Given the description of an element on the screen output the (x, y) to click on. 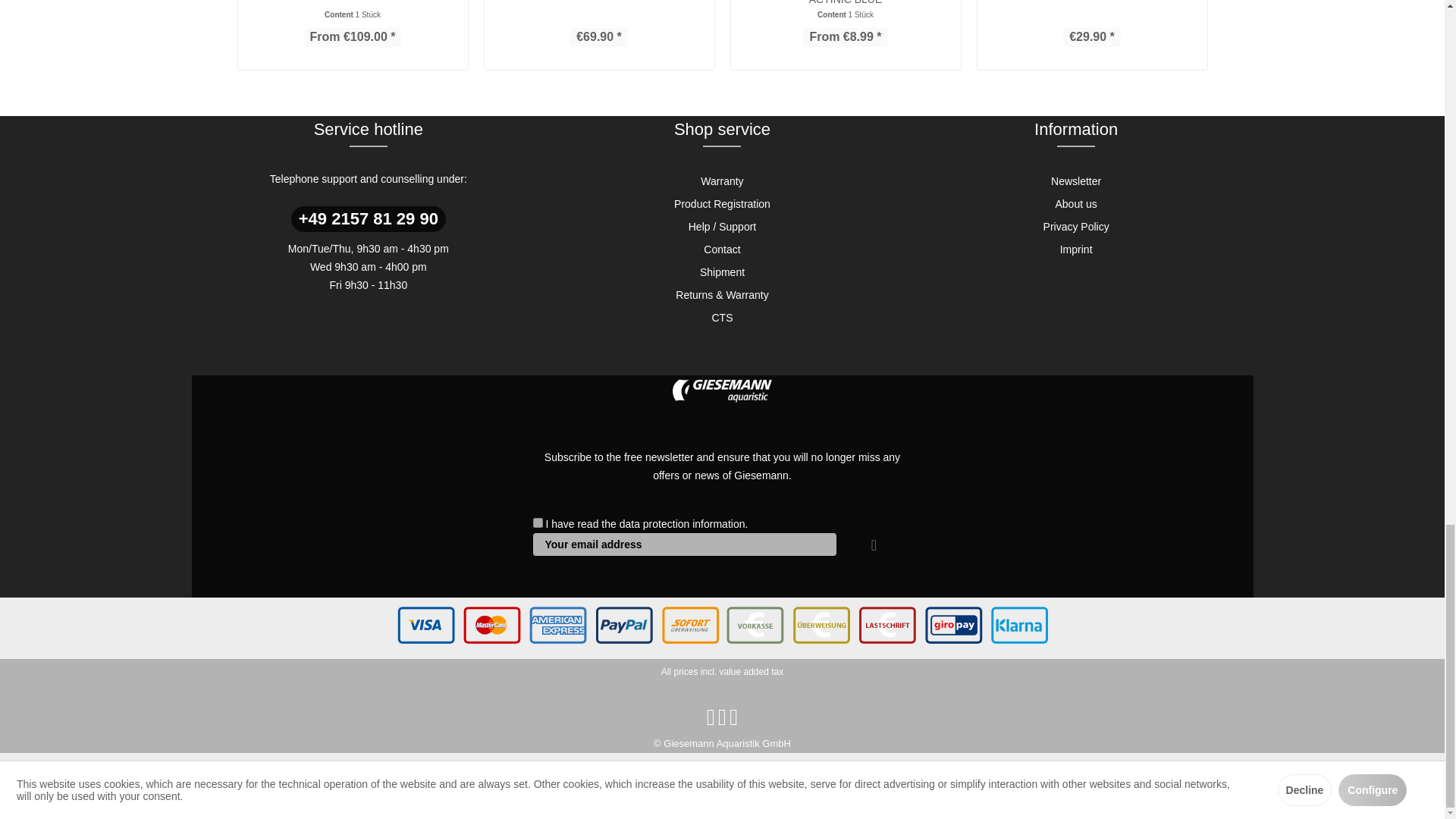
1 (536, 522)
